Given the description of an element on the screen output the (x, y) to click on. 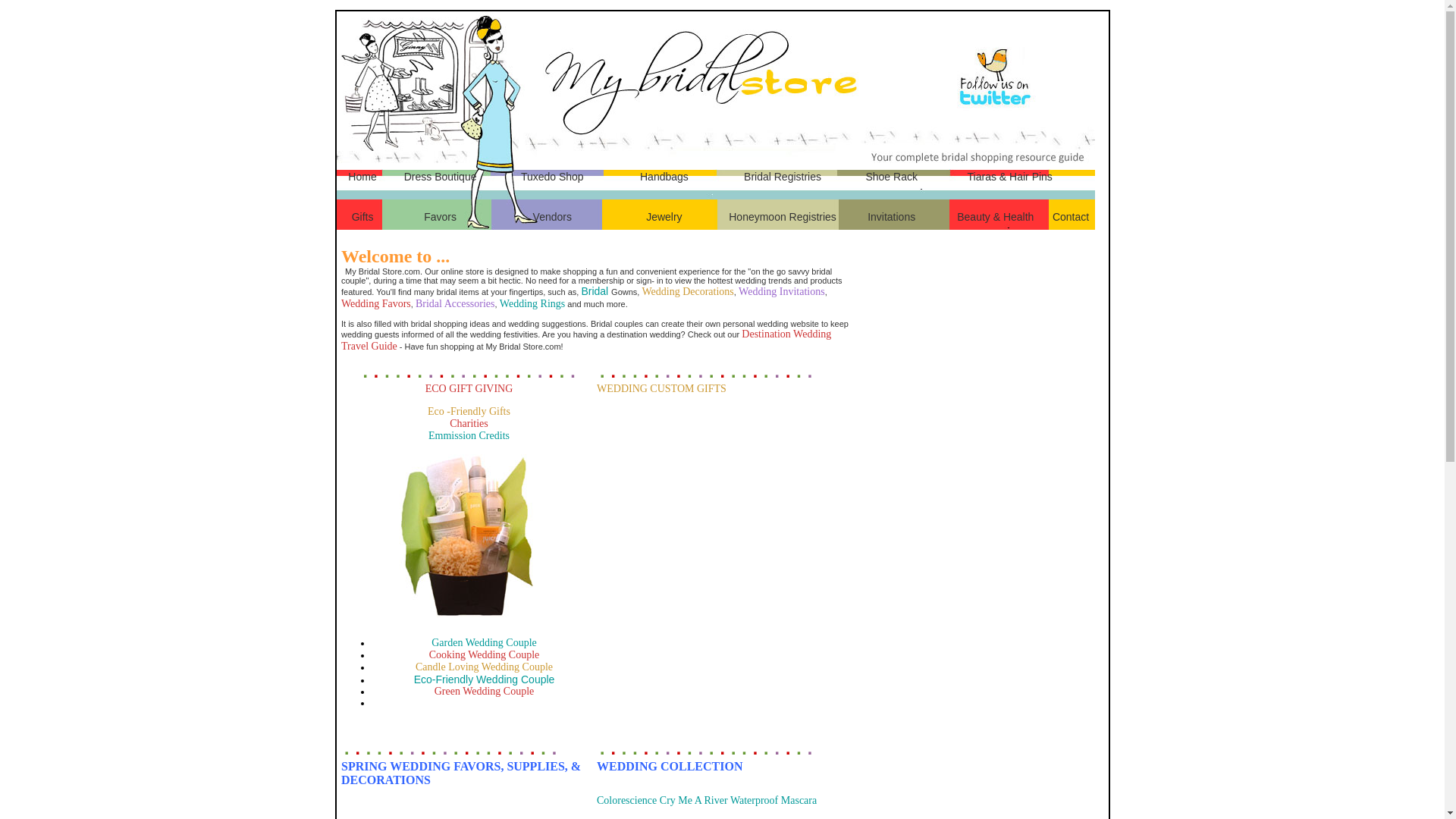
Honeymoon Registries (782, 216)
Emmission Credits (468, 483)
Eco-Friendly Wedding Couple (483, 679)
Gifts (363, 216)
Bridal (595, 291)
Wedding Favors (375, 303)
Invitations (891, 216)
Wedding Rings (531, 303)
Eco -Friendly Gifts (469, 410)
Favors (440, 216)
